Given the description of an element on the screen output the (x, y) to click on. 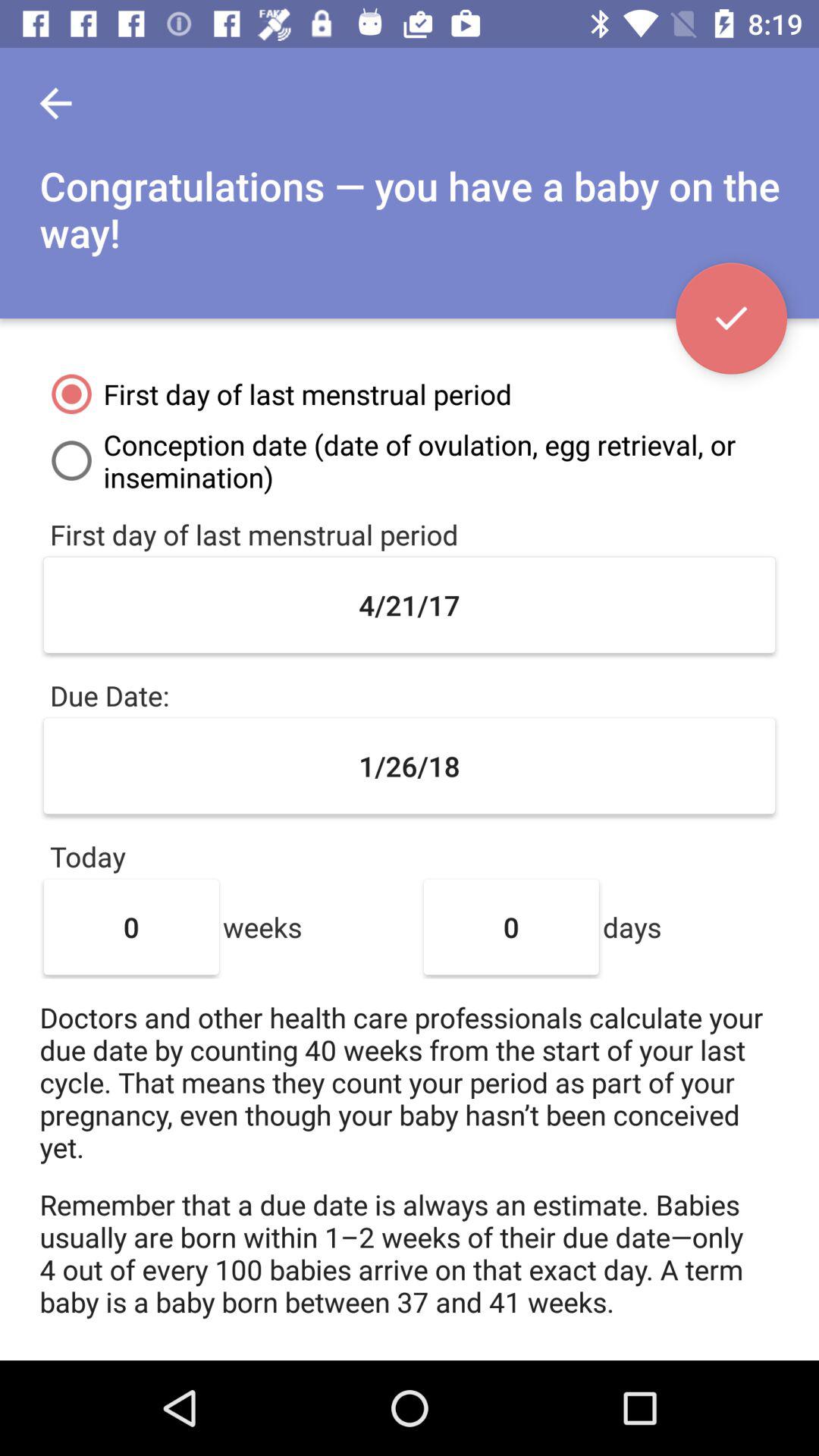
accept changes made on page (731, 318)
